Given the description of an element on the screen output the (x, y) to click on. 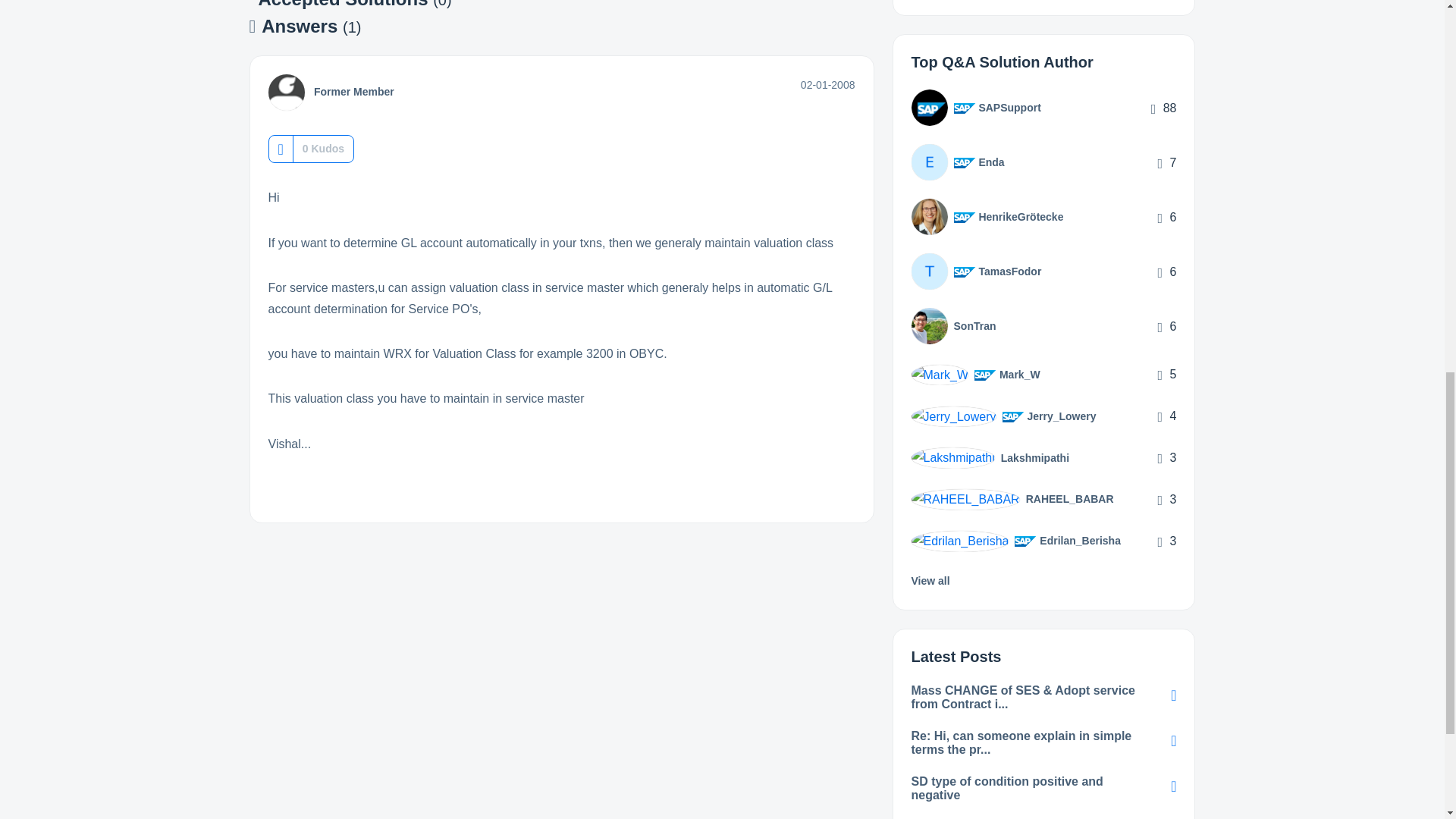
The total number of kudos this post has received. (323, 148)
Posted on (828, 84)
